Given the description of an element on the screen output the (x, y) to click on. 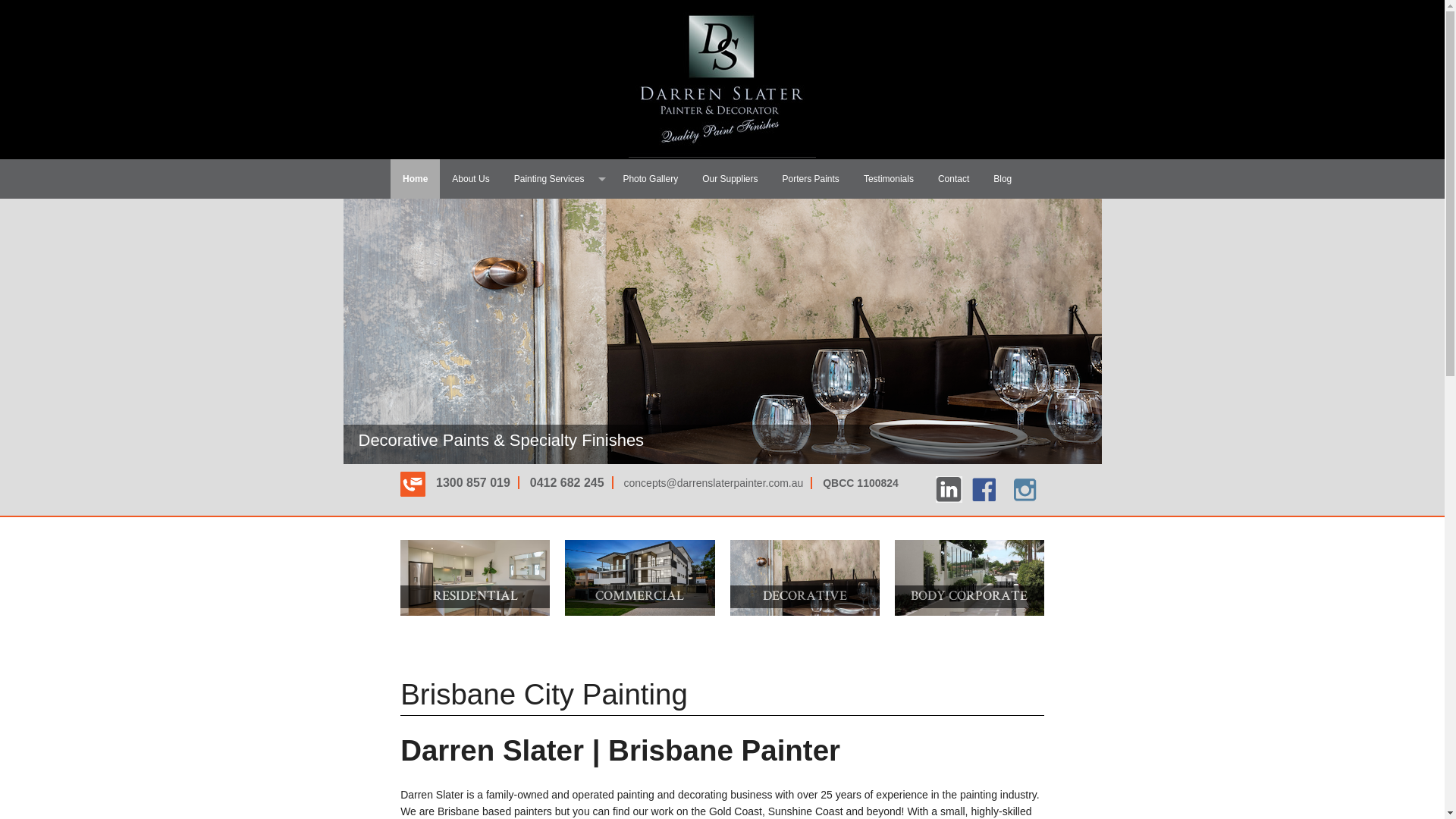
Porters Paints Element type: text (810, 178)
DECORATIVE Element type: text (803, 577)
Contact Element type: text (953, 178)
Blog Element type: text (1002, 178)
Photo Gallery Element type: text (650, 178)
About Us Element type: text (470, 178)
Brisbane Painter | Commercial & Domestic Element type: hover (721, 153)
BODY CORPORATE Element type: text (969, 577)
Home Element type: text (414, 178)
Testimonials Element type: text (888, 178)
RESIDENTIAL Element type: text (474, 577)
Our Suppliers Element type: text (729, 178)
Painting Services Element type: text (556, 178)
COMMERCIAL Element type: text (639, 577)
